Given the description of an element on the screen output the (x, y) to click on. 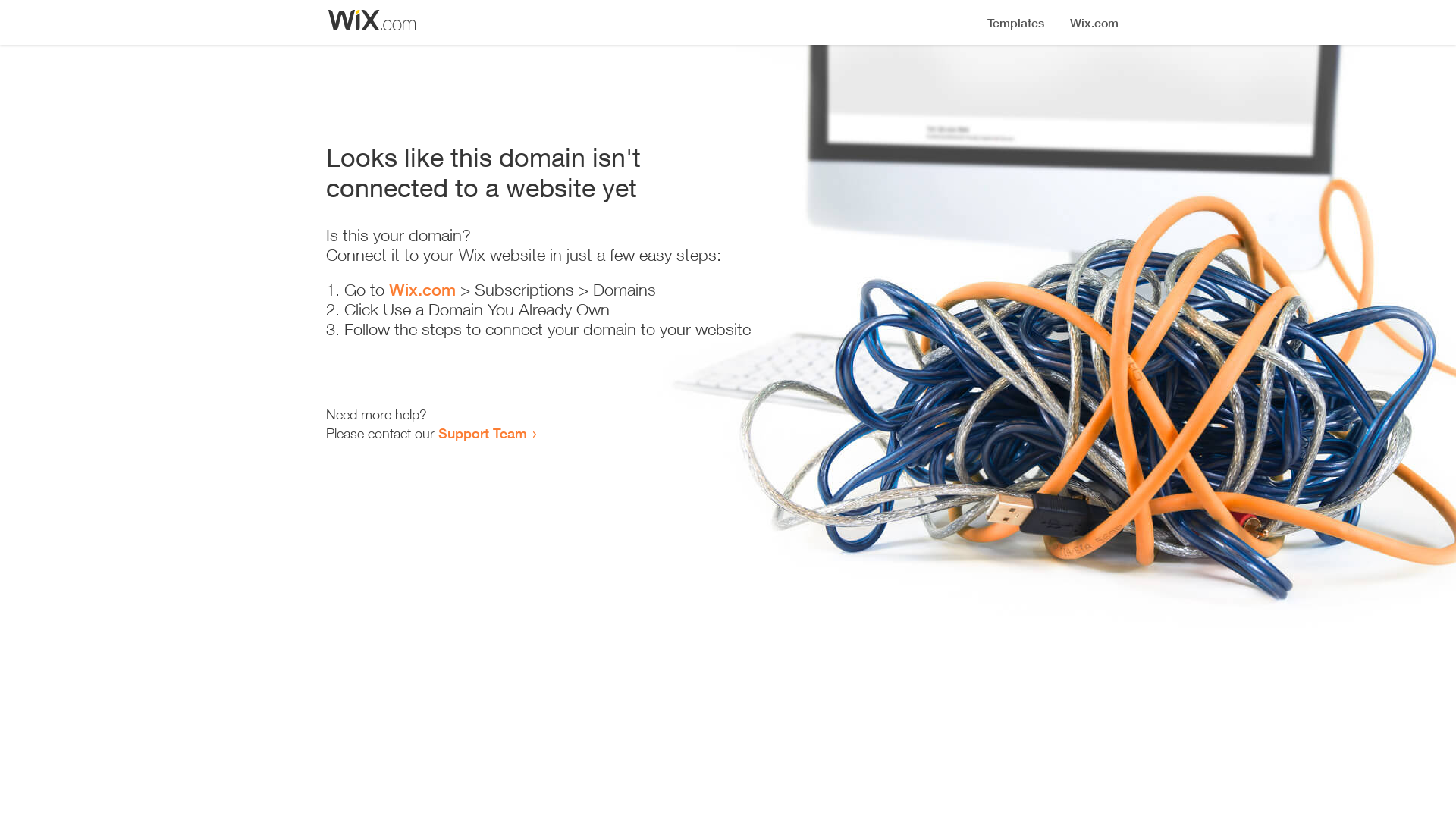
Wix.com Element type: text (422, 289)
Support Team Element type: text (482, 432)
